Given the description of an element on the screen output the (x, y) to click on. 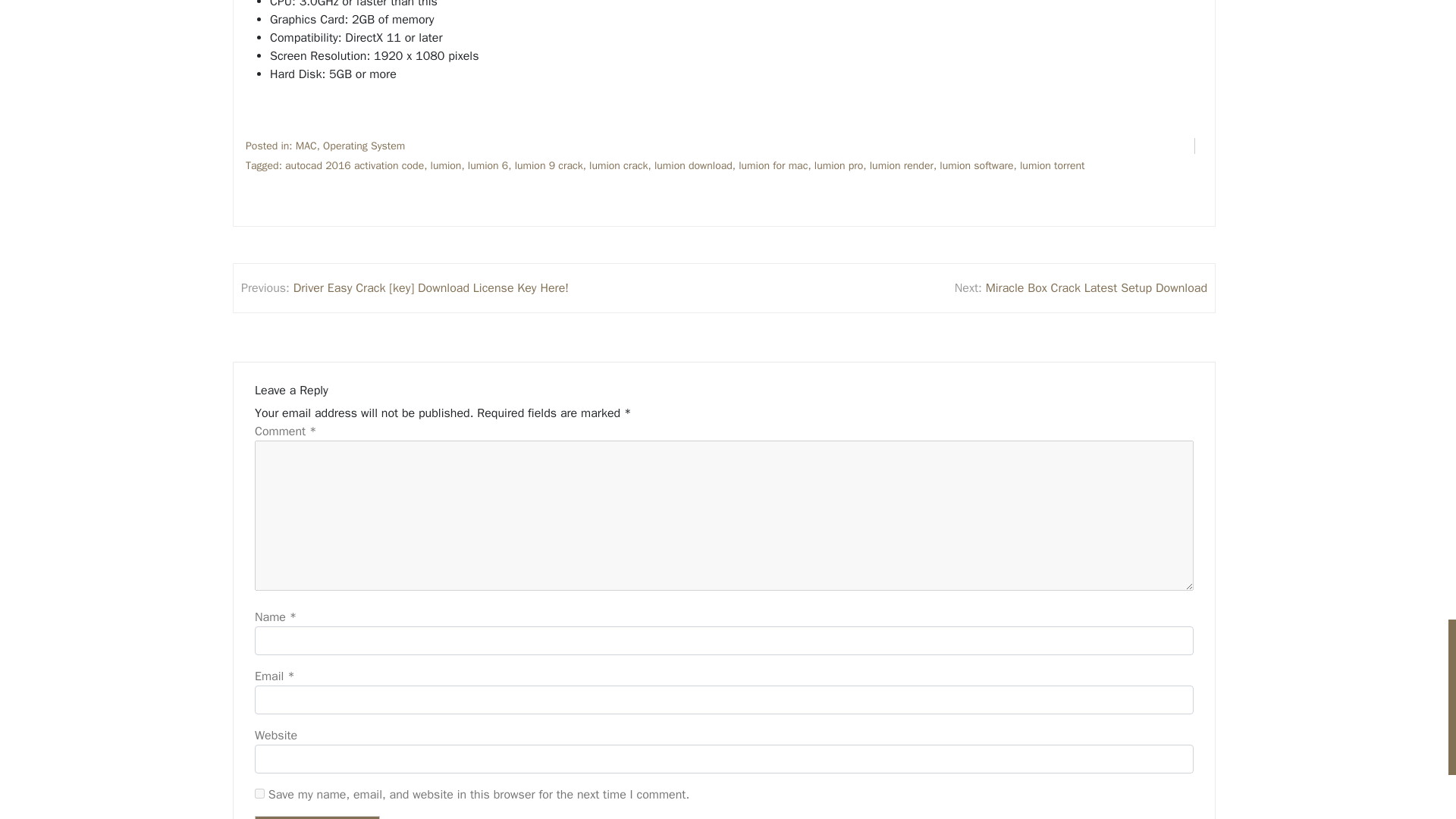
Post Comment (317, 817)
yes (259, 793)
lumion torrent (1052, 165)
lumion pro (838, 165)
lumion crack (618, 165)
lumion software (976, 165)
lumion 9 crack (549, 165)
lumion 6 (487, 165)
autocad 2016 activation code (354, 165)
Operating System (363, 145)
